Given the description of an element on the screen output the (x, y) to click on. 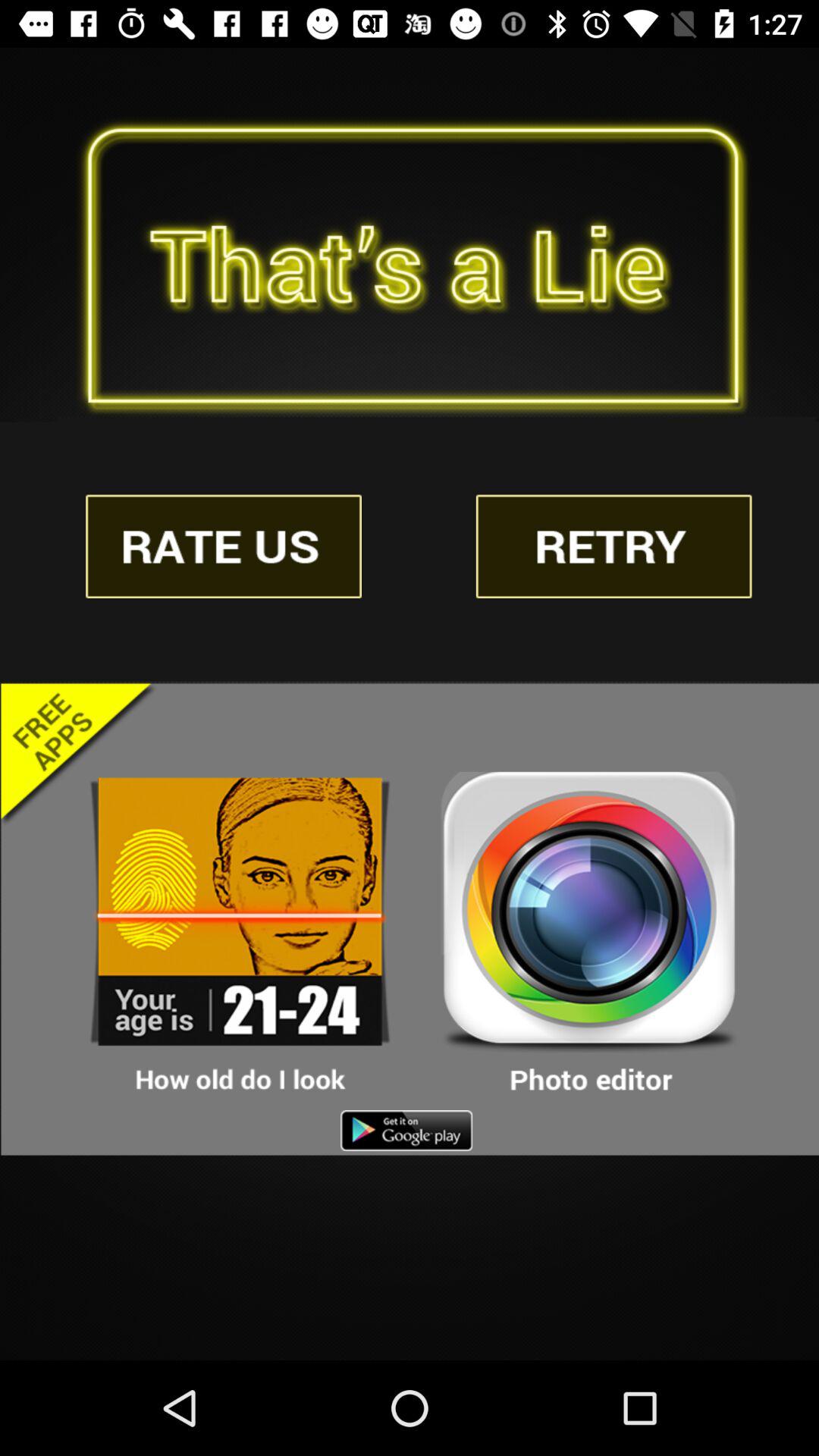
rate the app (223, 546)
